Given the description of an element on the screen output the (x, y) to click on. 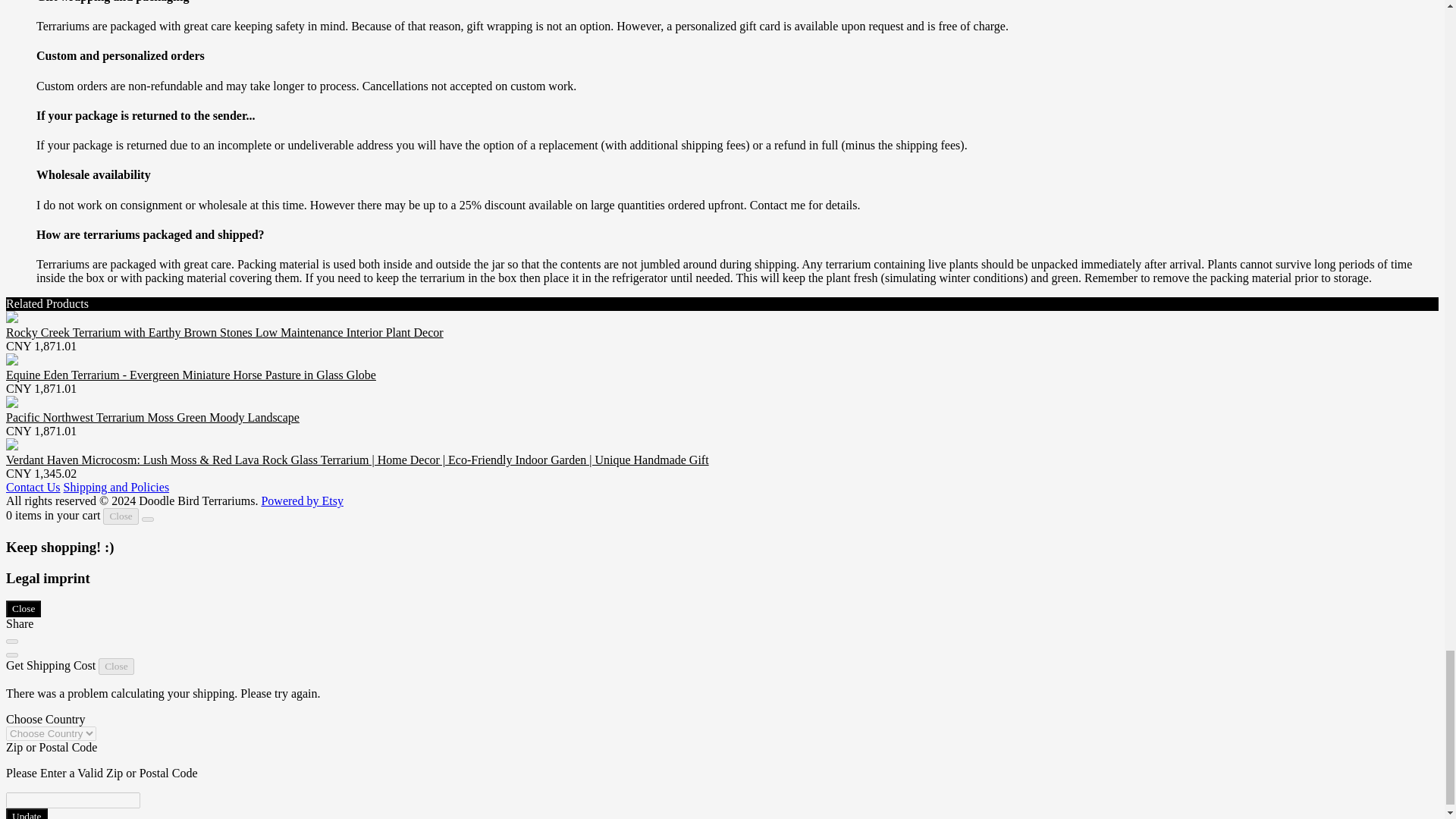
Close (22, 608)
Shipping and Policies (117, 486)
Close (120, 515)
Powered by Etsy (301, 500)
Contact Us (33, 486)
